Given the description of an element on the screen output the (x, y) to click on. 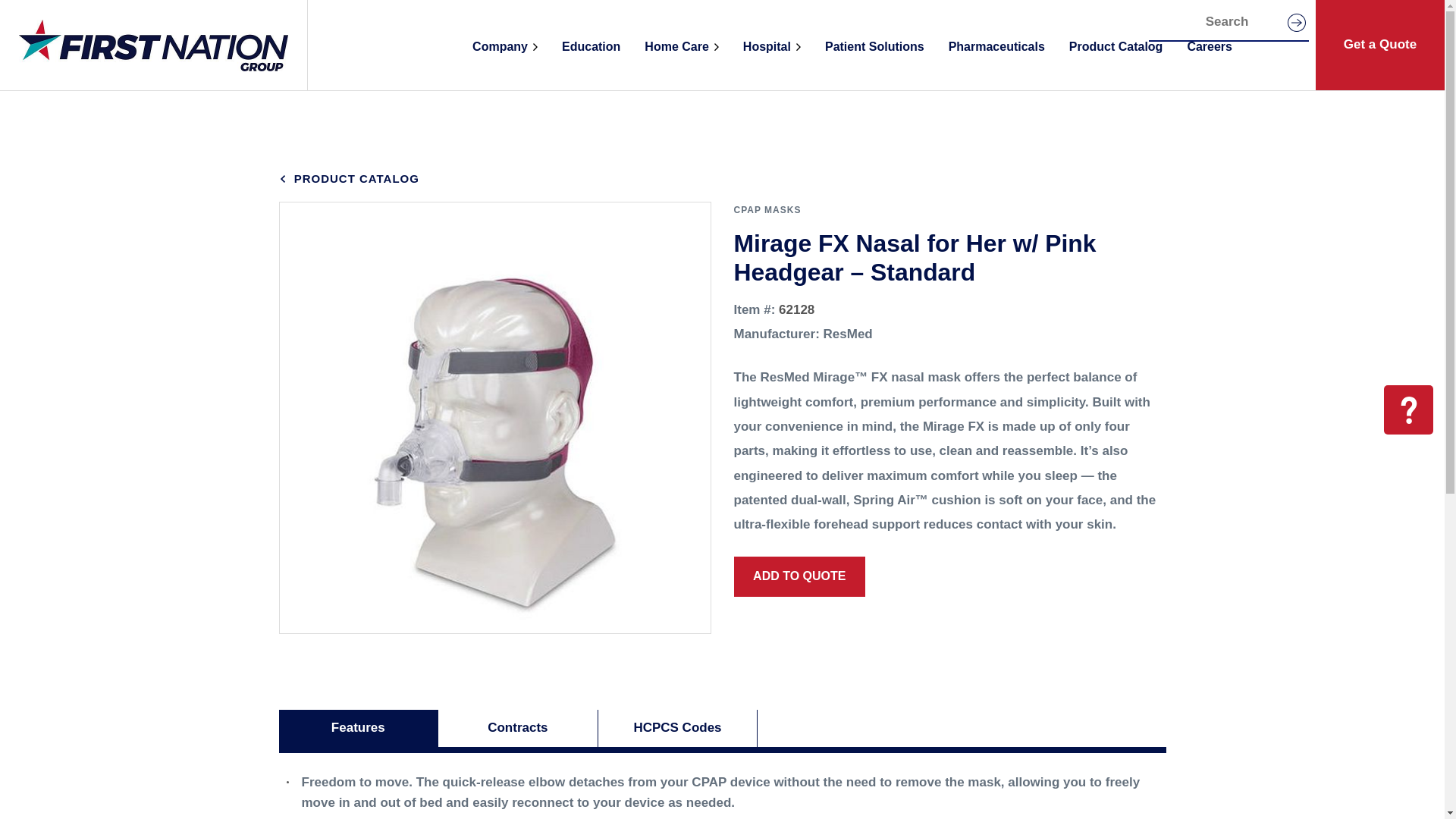
Home Care (680, 45)
Company (505, 45)
Education (590, 45)
